Given the description of an element on the screen output the (x, y) to click on. 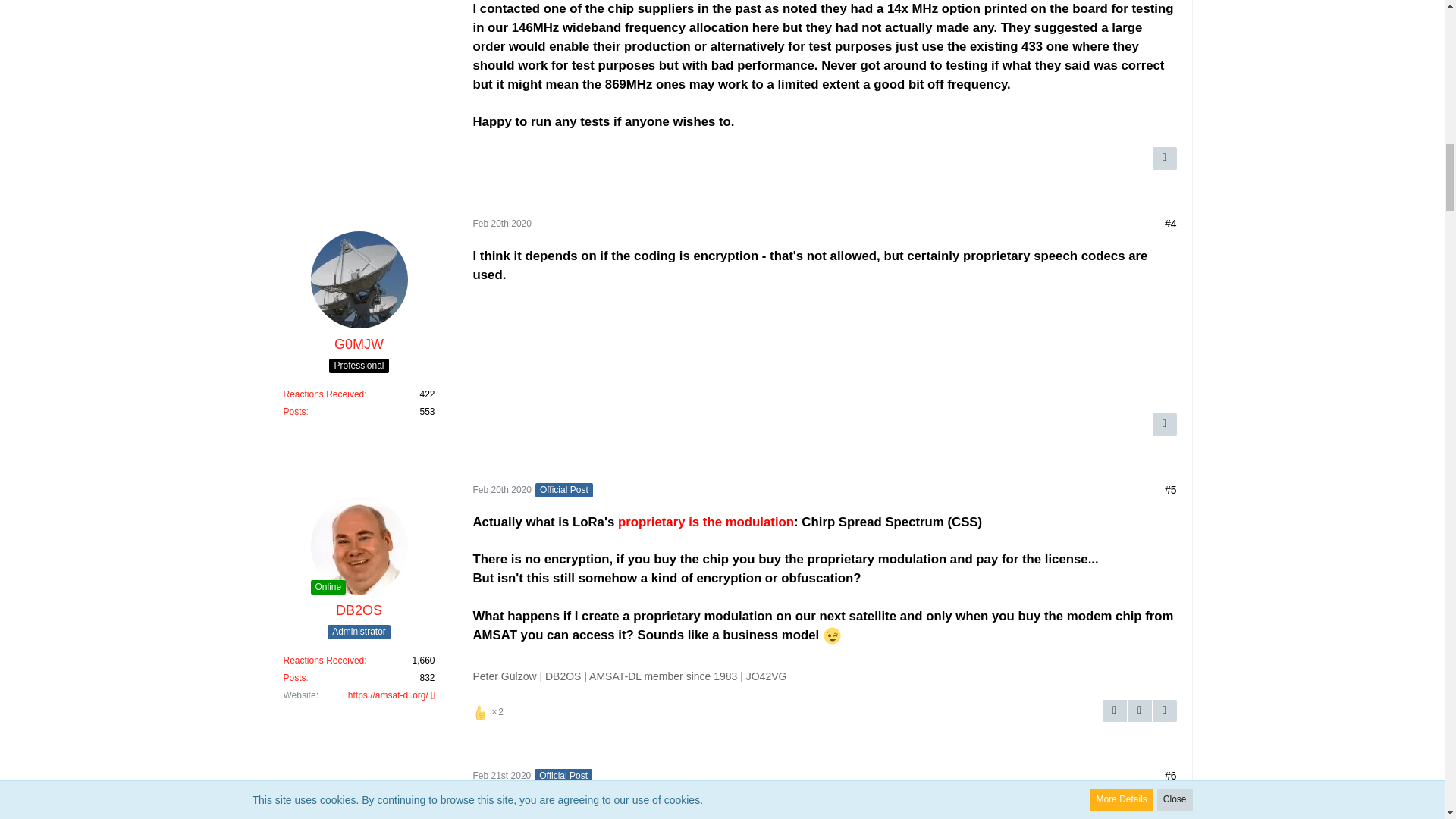
DB2OS is online (328, 586)
wink (832, 635)
